Given the description of an element on the screen output the (x, y) to click on. 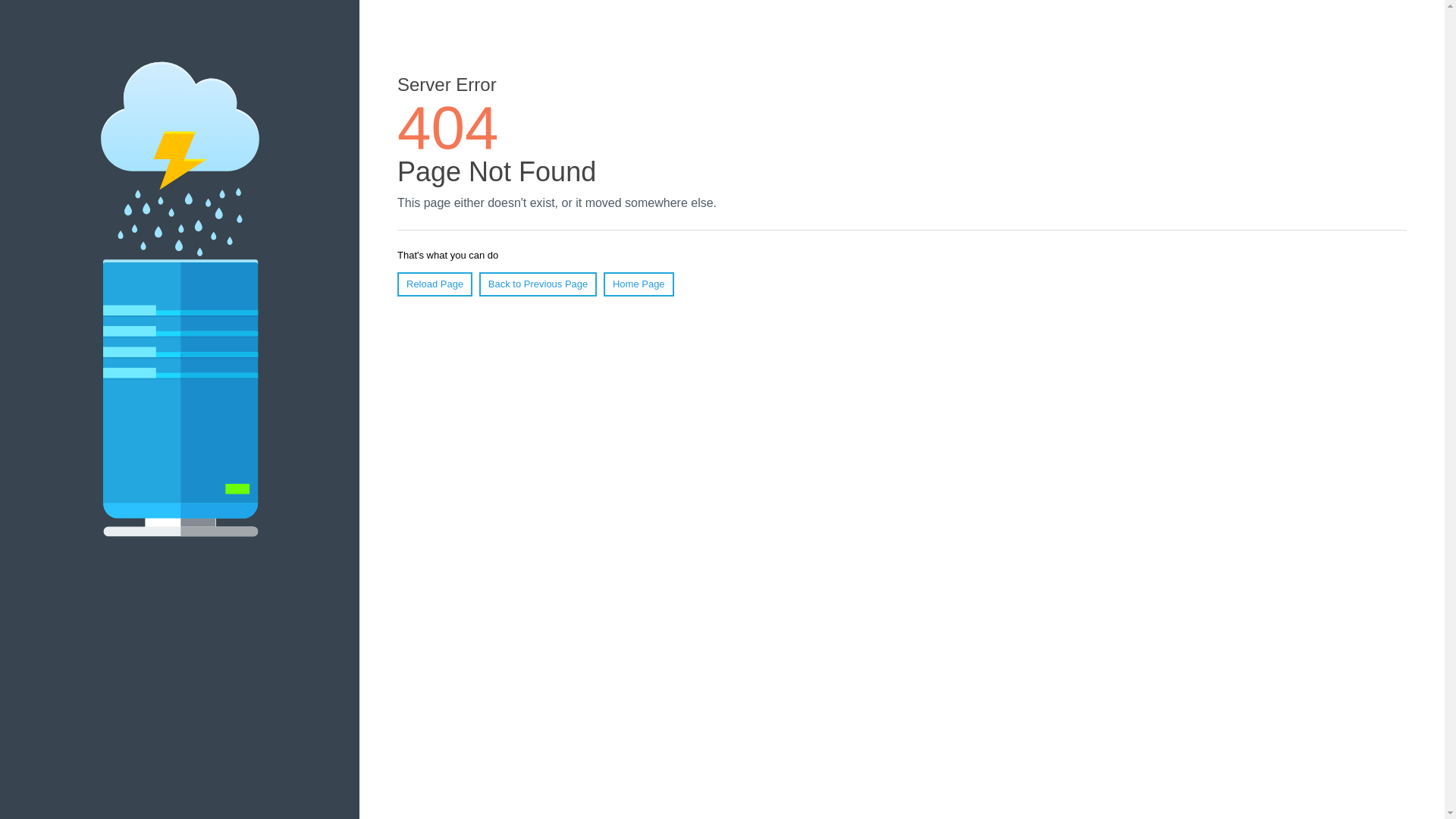
Home Page Element type: text (638, 284)
Reload Page Element type: text (434, 284)
Back to Previous Page Element type: text (538, 284)
